Given the description of an element on the screen output the (x, y) to click on. 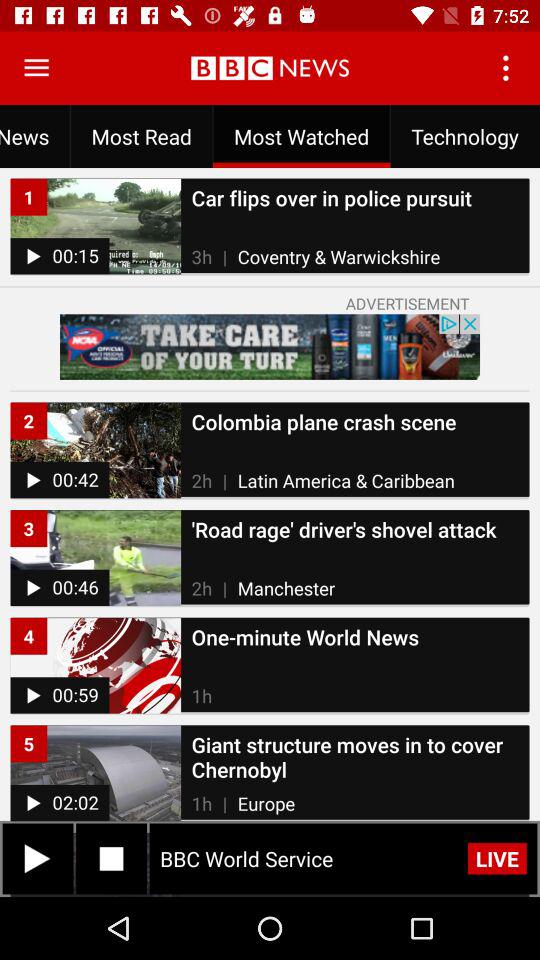
open advertisement (270, 346)
